Given the description of an element on the screen output the (x, y) to click on. 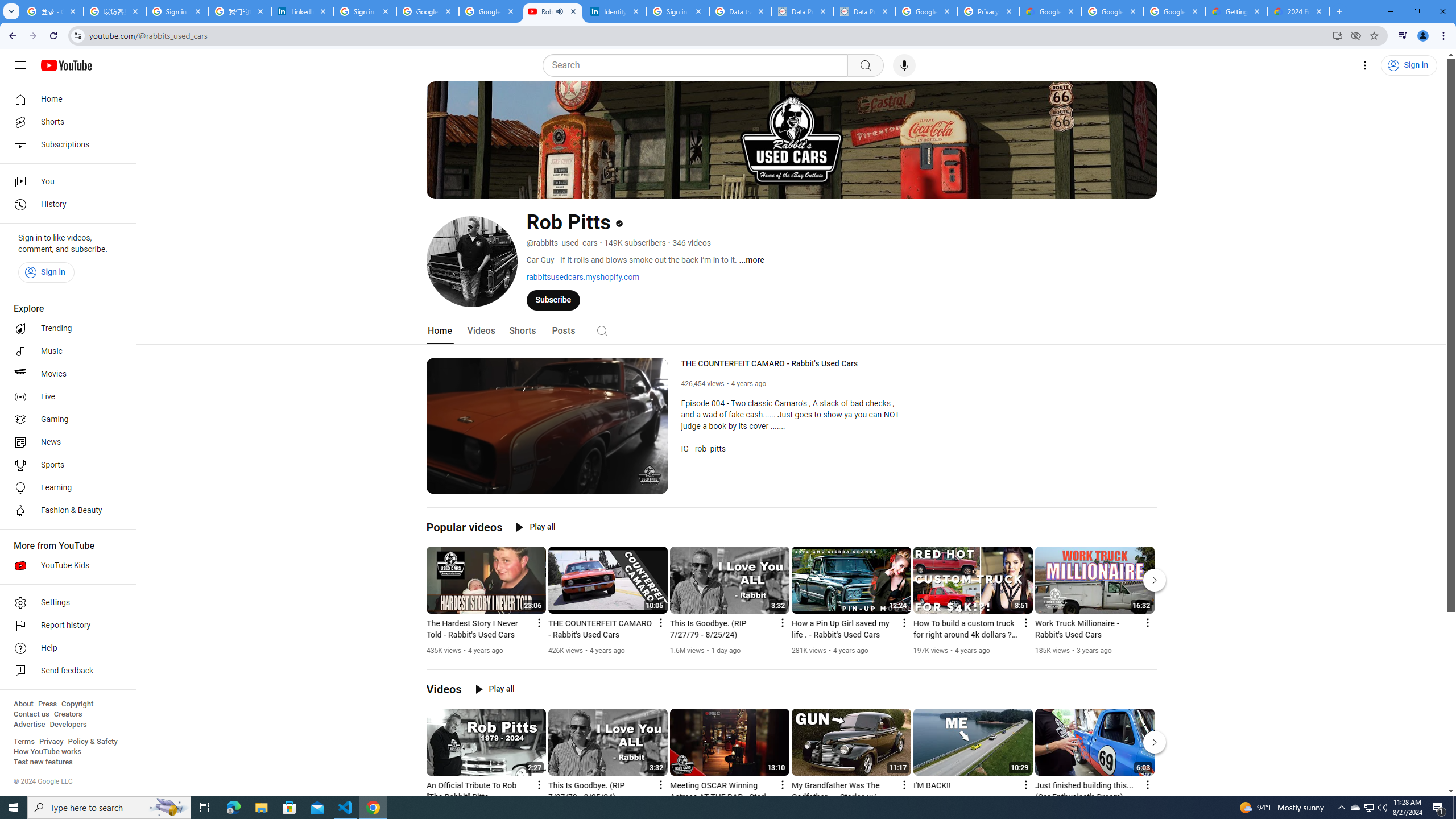
Learning (64, 487)
Google Cloud Terms Directory | Google Cloud (1050, 11)
Trending (64, 328)
